Given the description of an element on the screen output the (x, y) to click on. 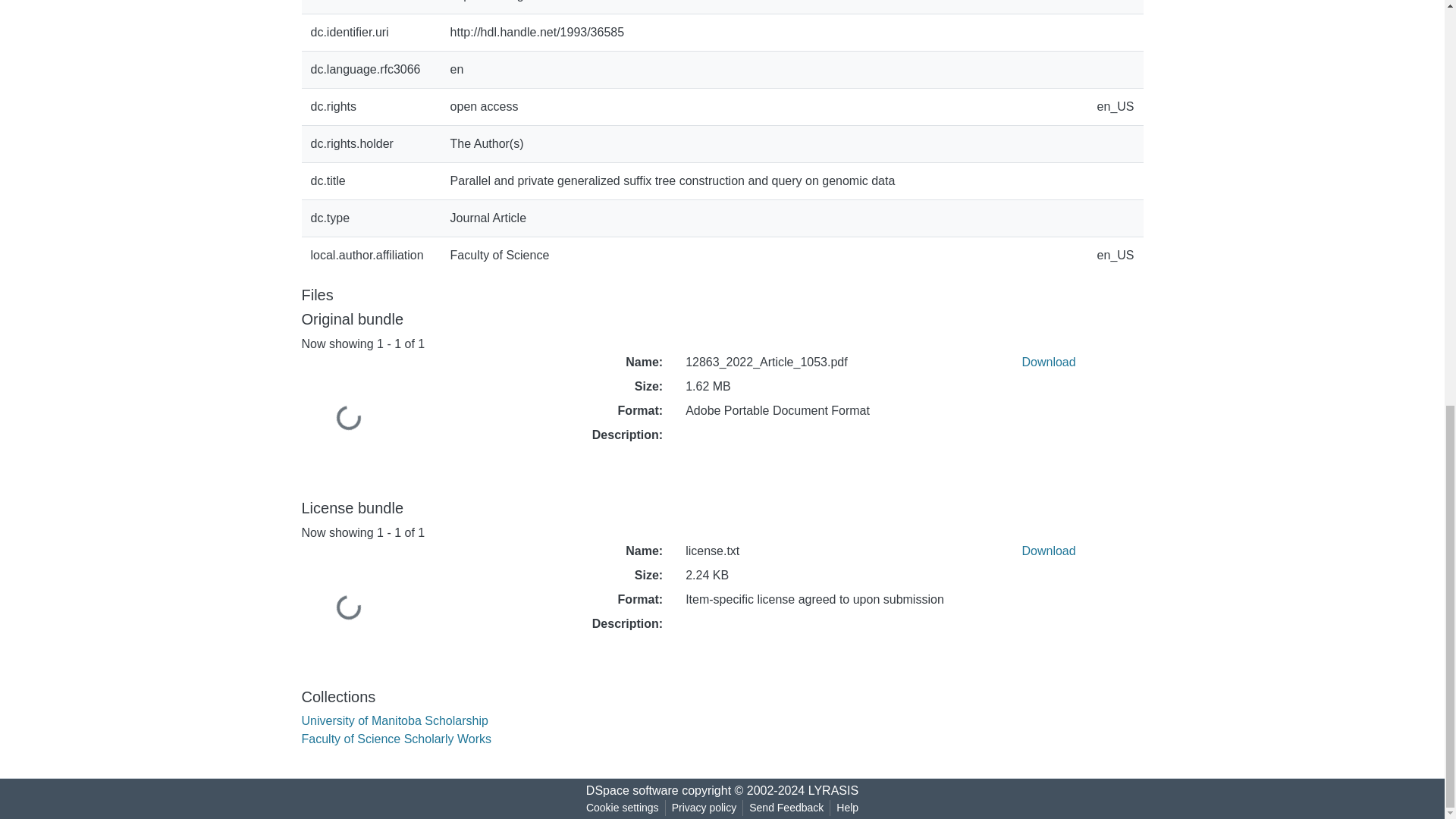
University of Manitoba Scholarship (394, 720)
Faculty of Science Scholarly Works (396, 738)
Download (1048, 550)
Send Feedback (785, 807)
Help (846, 807)
Cookie settings (622, 807)
Privacy policy (703, 807)
Download (1048, 361)
LYRASIS (833, 789)
DSpace software (632, 789)
